Given the description of an element on the screen output the (x, y) to click on. 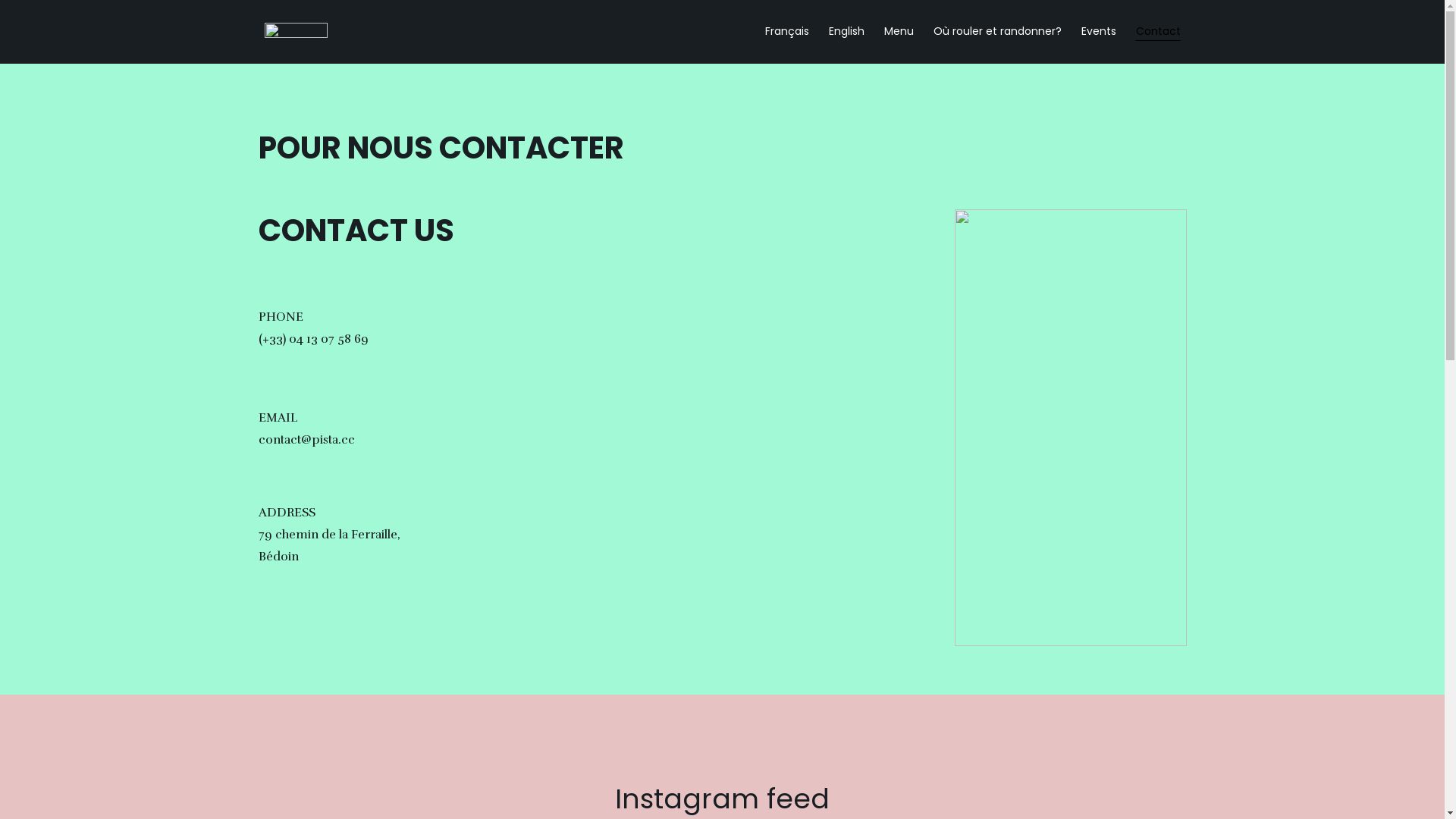
Menu Element type: text (898, 31)
English Element type: text (845, 31)
Contact Element type: text (1157, 31)
Events Element type: text (1098, 31)
